Given the description of an element on the screen output the (x, y) to click on. 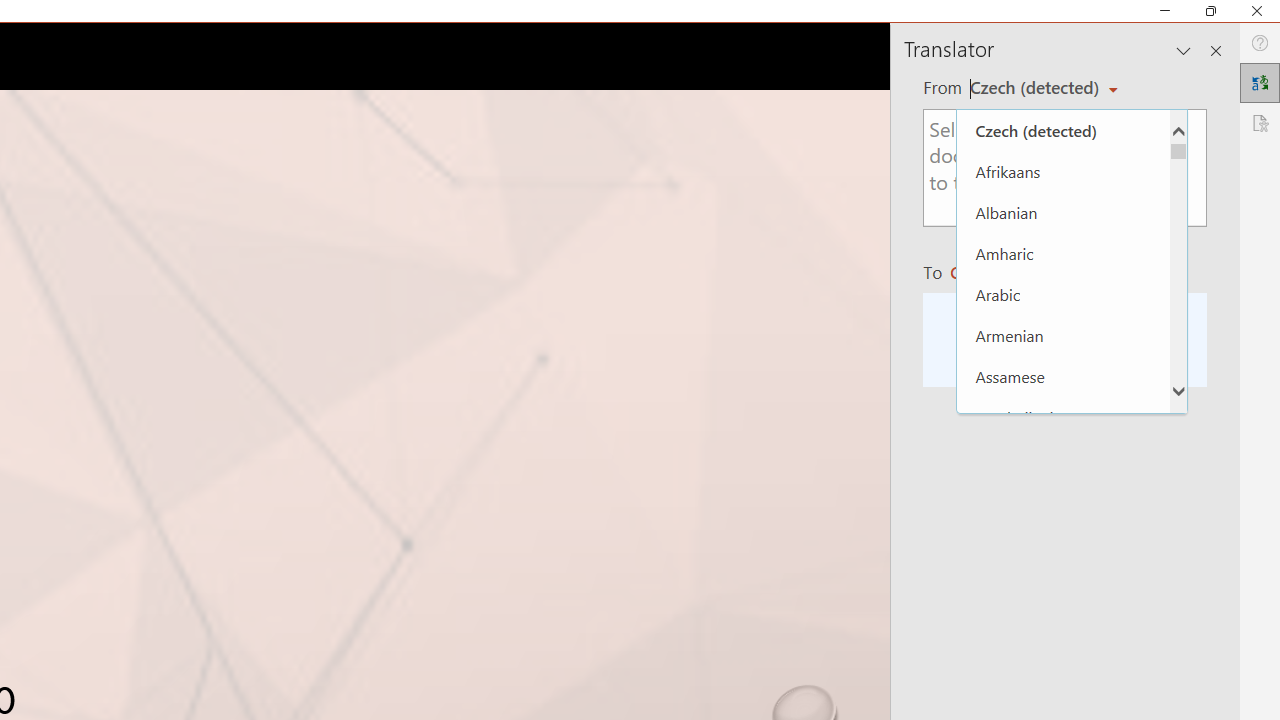
Bashkir (1063, 498)
Bhojpuri (1063, 580)
Czech (detected) (1037, 87)
Bosnian (1063, 663)
Albanian (1063, 212)
Bangla (1063, 457)
Basque (1063, 539)
